Given the description of an element on the screen output the (x, y) to click on. 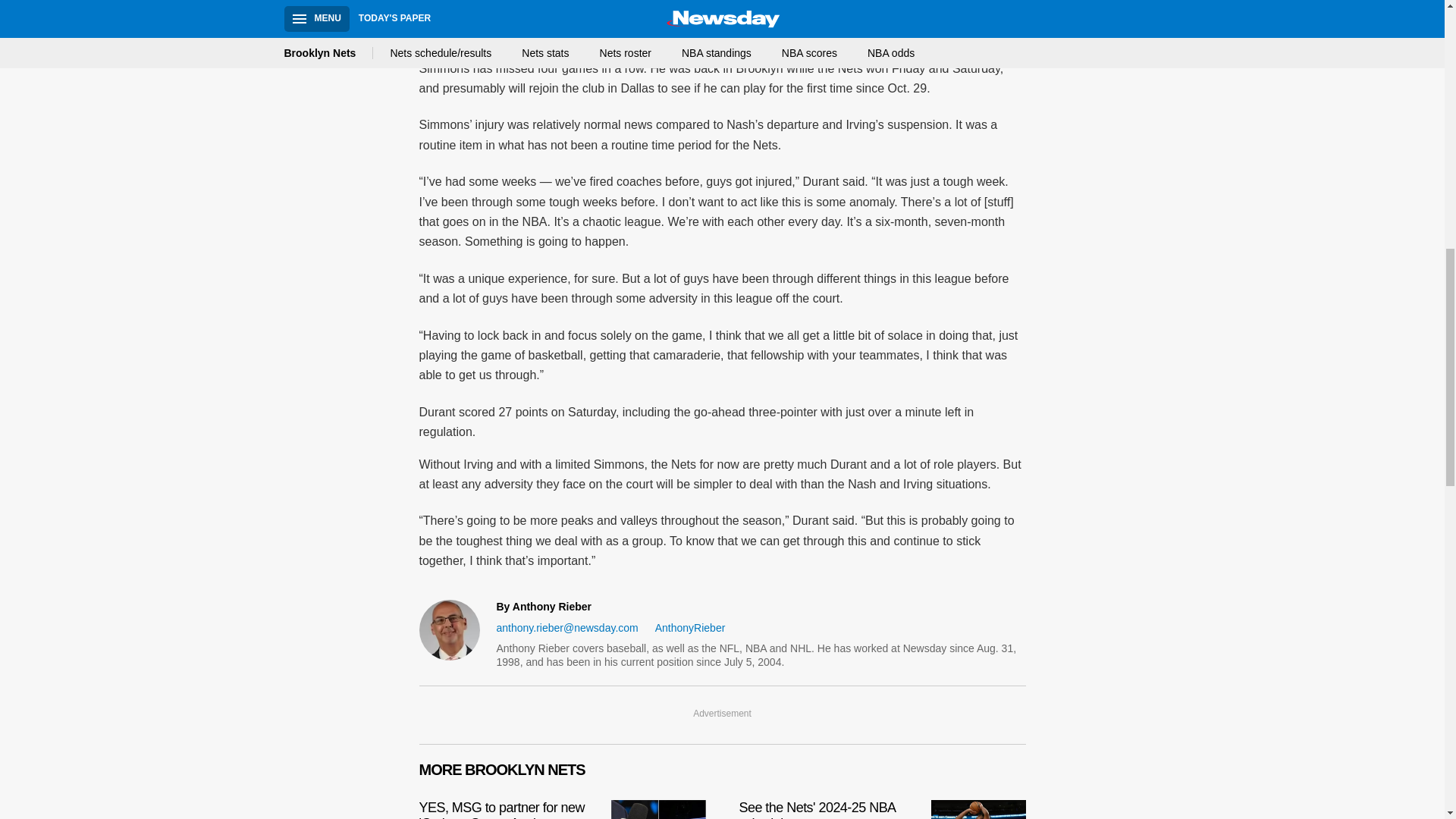
AnthonyRieber (561, 807)
